Given the description of an element on the screen output the (x, y) to click on. 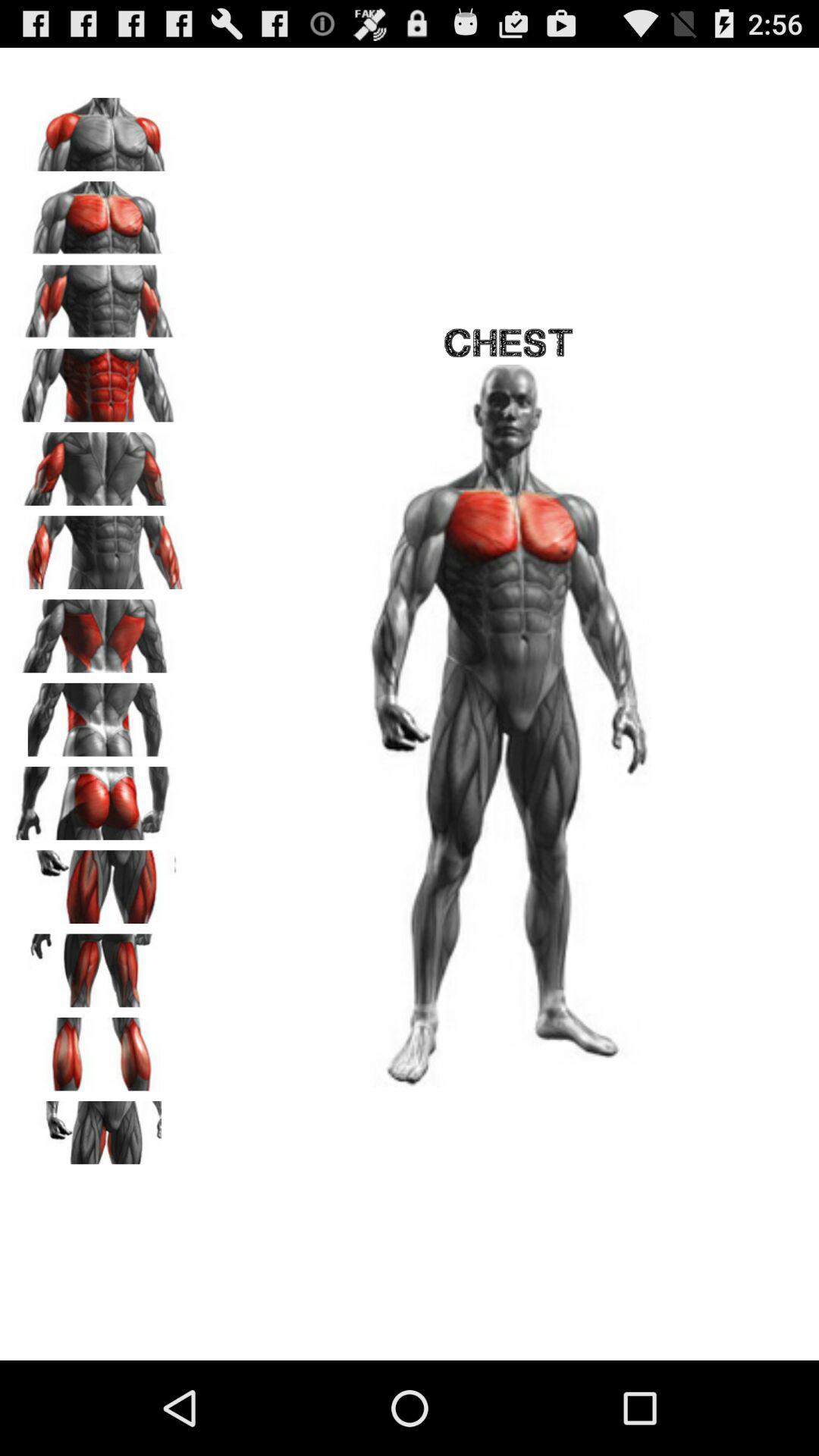
select forearms (99, 547)
